Given the description of an element on the screen output the (x, y) to click on. 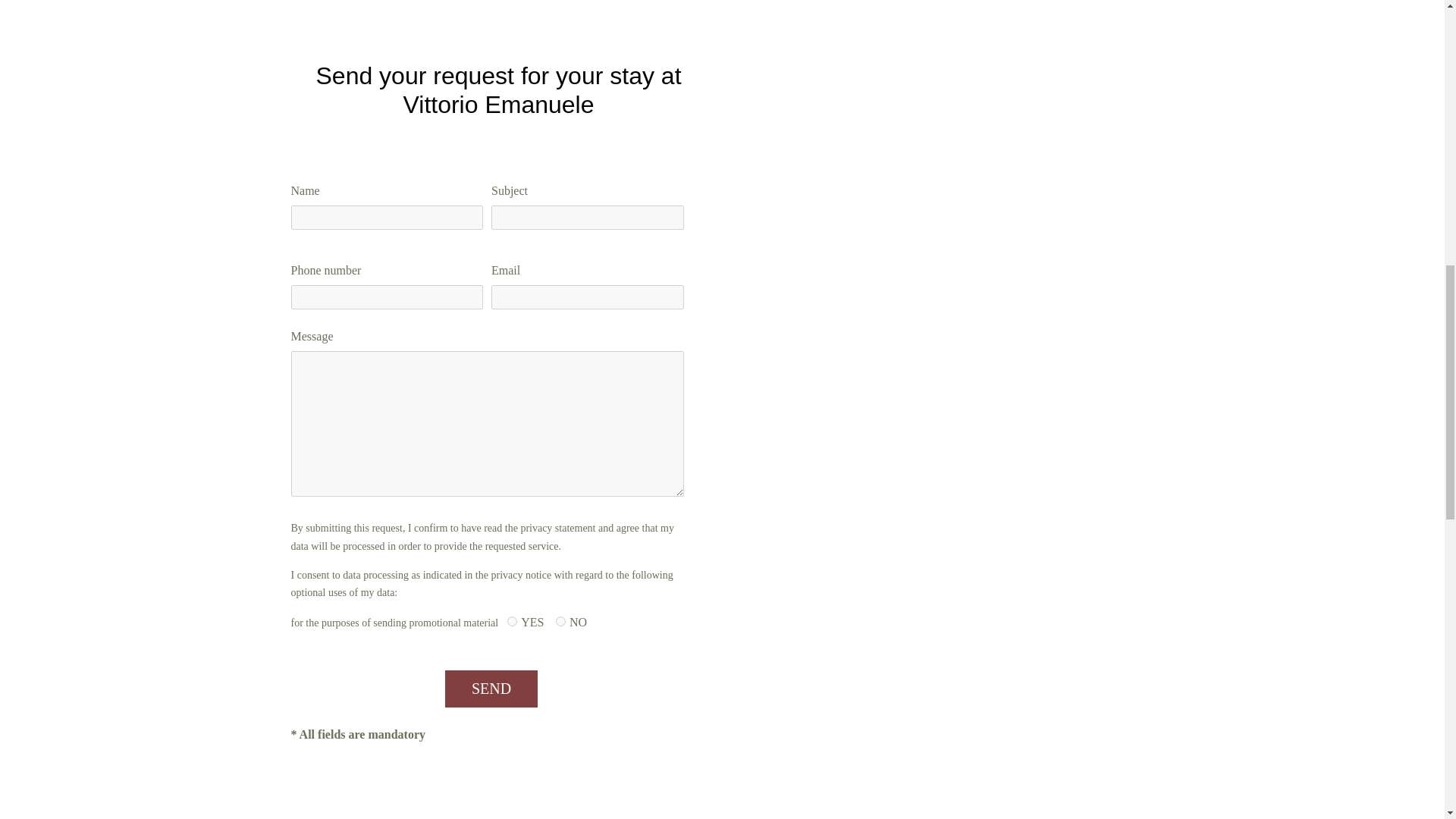
Send (491, 688)
1 (511, 621)
Send (491, 688)
0 (561, 621)
